Given the description of an element on the screen output the (x, y) to click on. 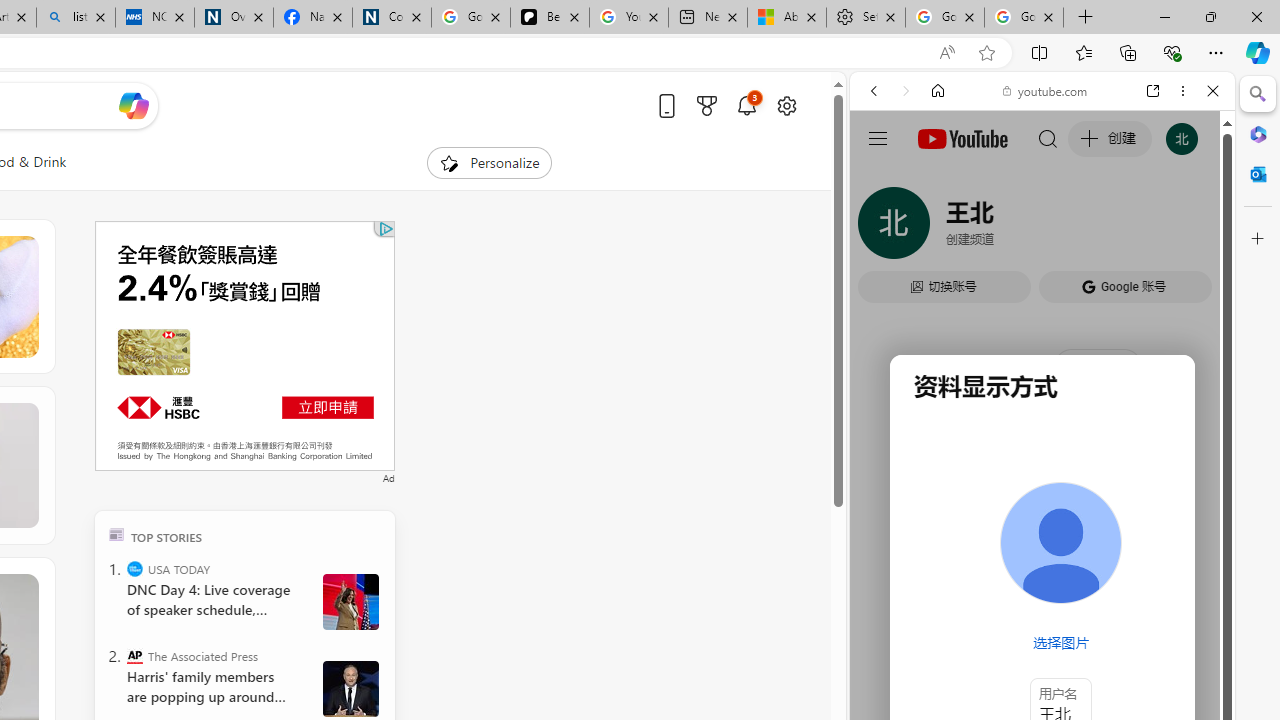
USA TODAY (134, 568)
Google (947, 584)
Microsoft rewards (707, 105)
Ad (388, 476)
The Associated Press (134, 655)
list of asthma inhalers uk - Search (76, 17)
This site scope (936, 180)
